Given the description of an element on the screen output the (x, y) to click on. 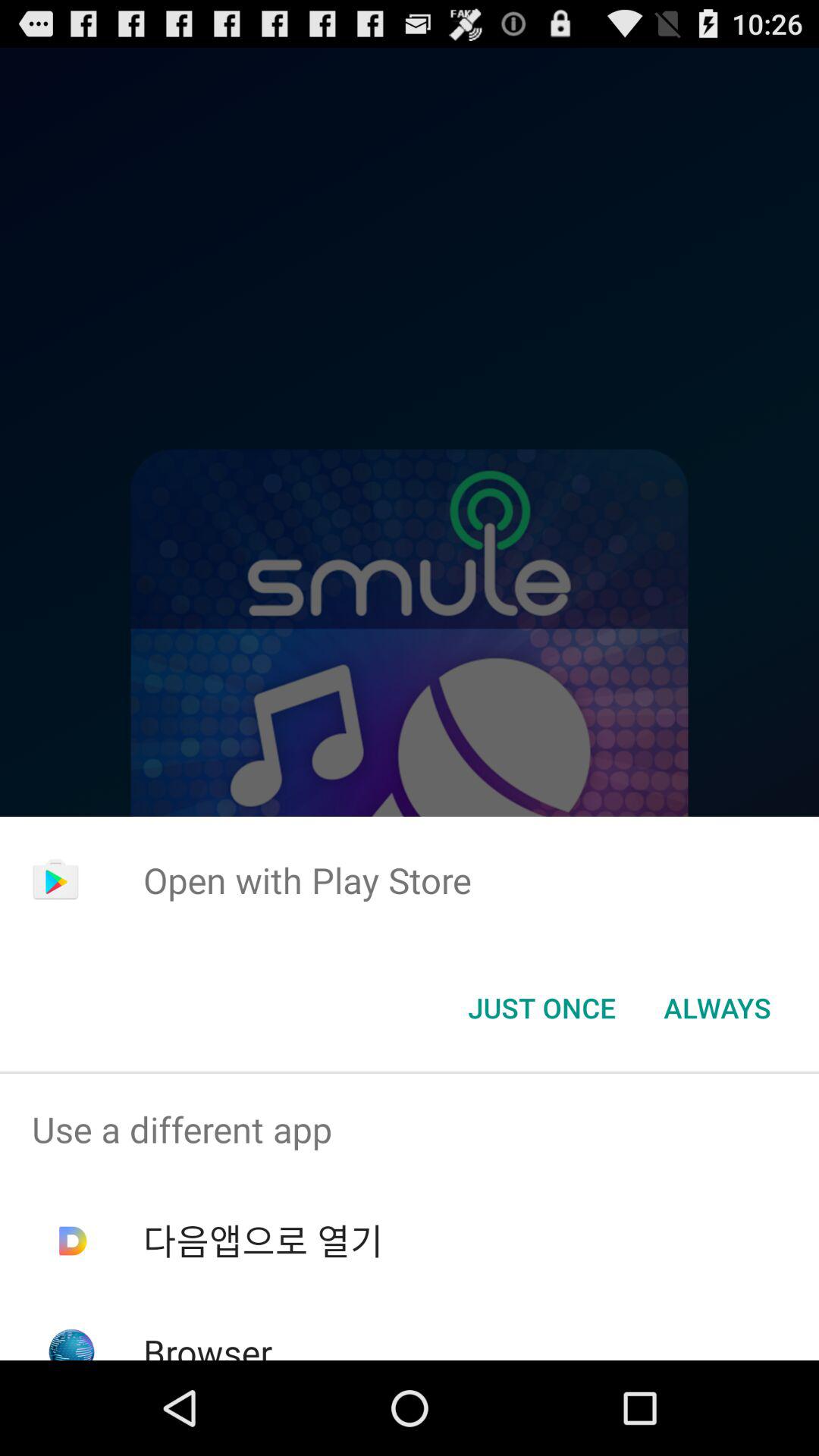
click just once item (541, 1007)
